Given the description of an element on the screen output the (x, y) to click on. 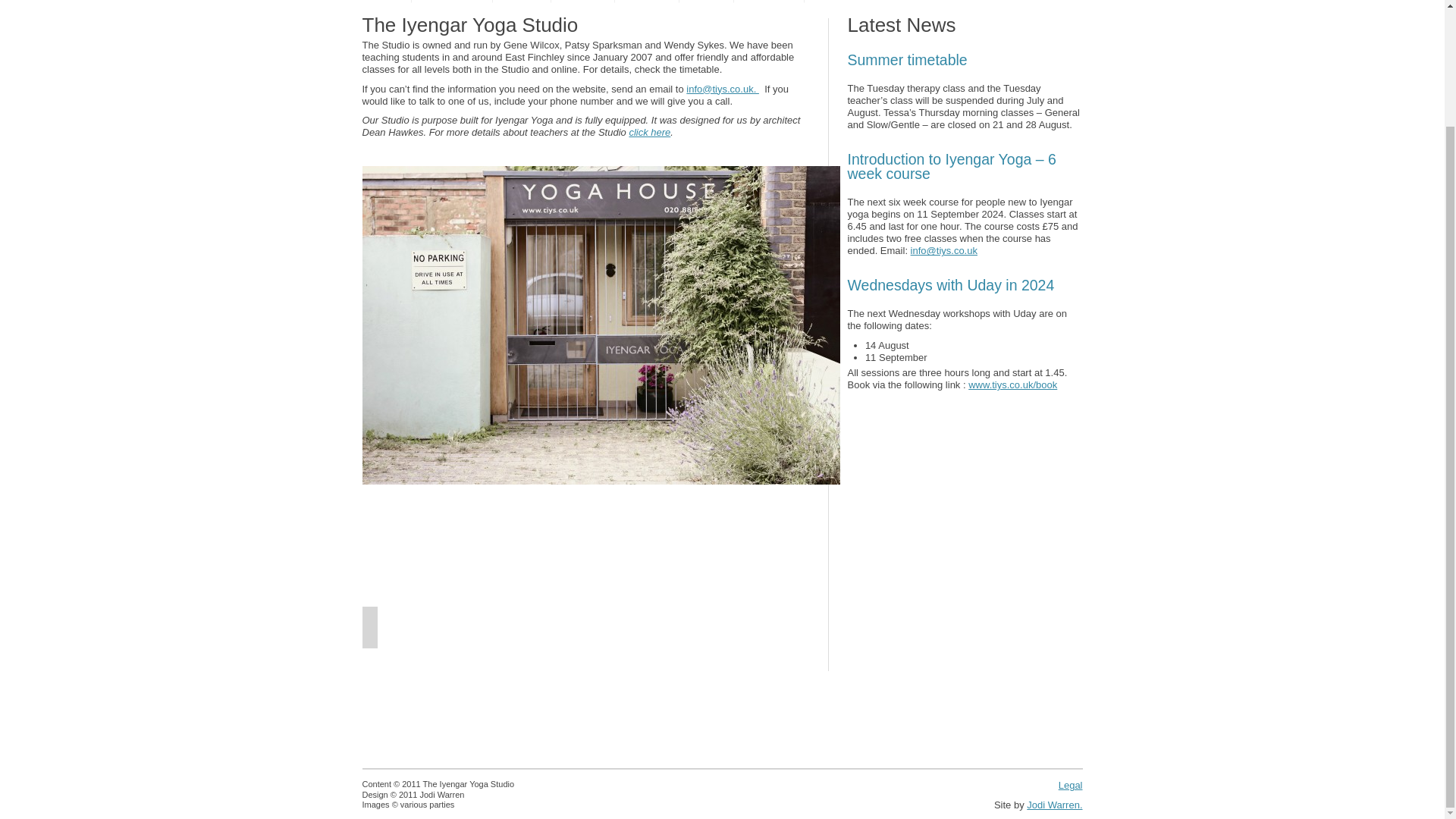
Legal (1070, 785)
Summer timetable (965, 60)
Iyengar Yoga (452, 1)
Teachers (582, 1)
Classes (522, 1)
click here (648, 132)
Home (387, 1)
Contact us (769, 1)
Wednesdays with Uday in 2024 (965, 285)
Jodi Warren. (1053, 804)
